Given the description of an element on the screen output the (x, y) to click on. 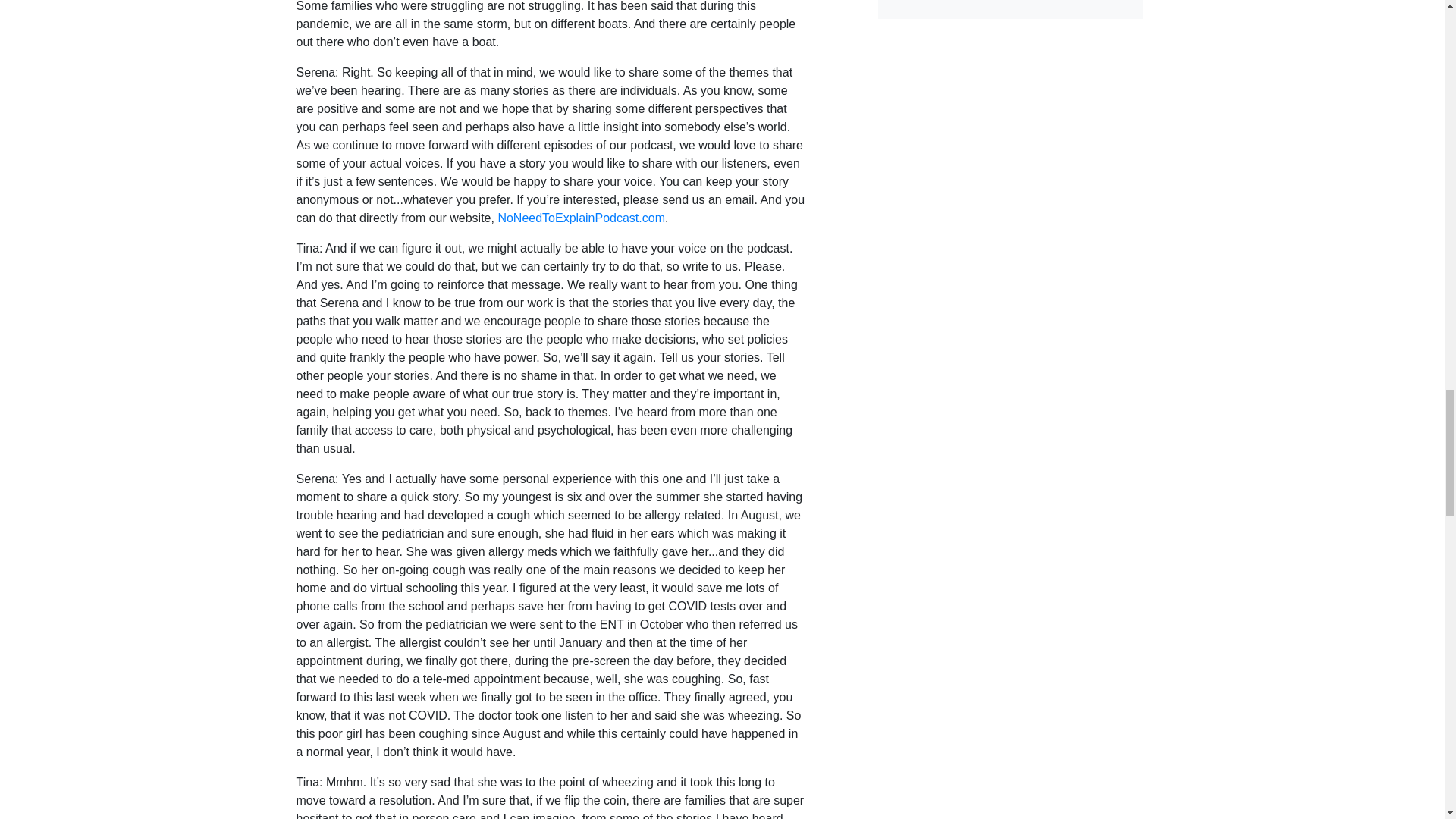
NoNeedToExplainPodcast.com (581, 217)
